Given the description of an element on the screen output the (x, y) to click on. 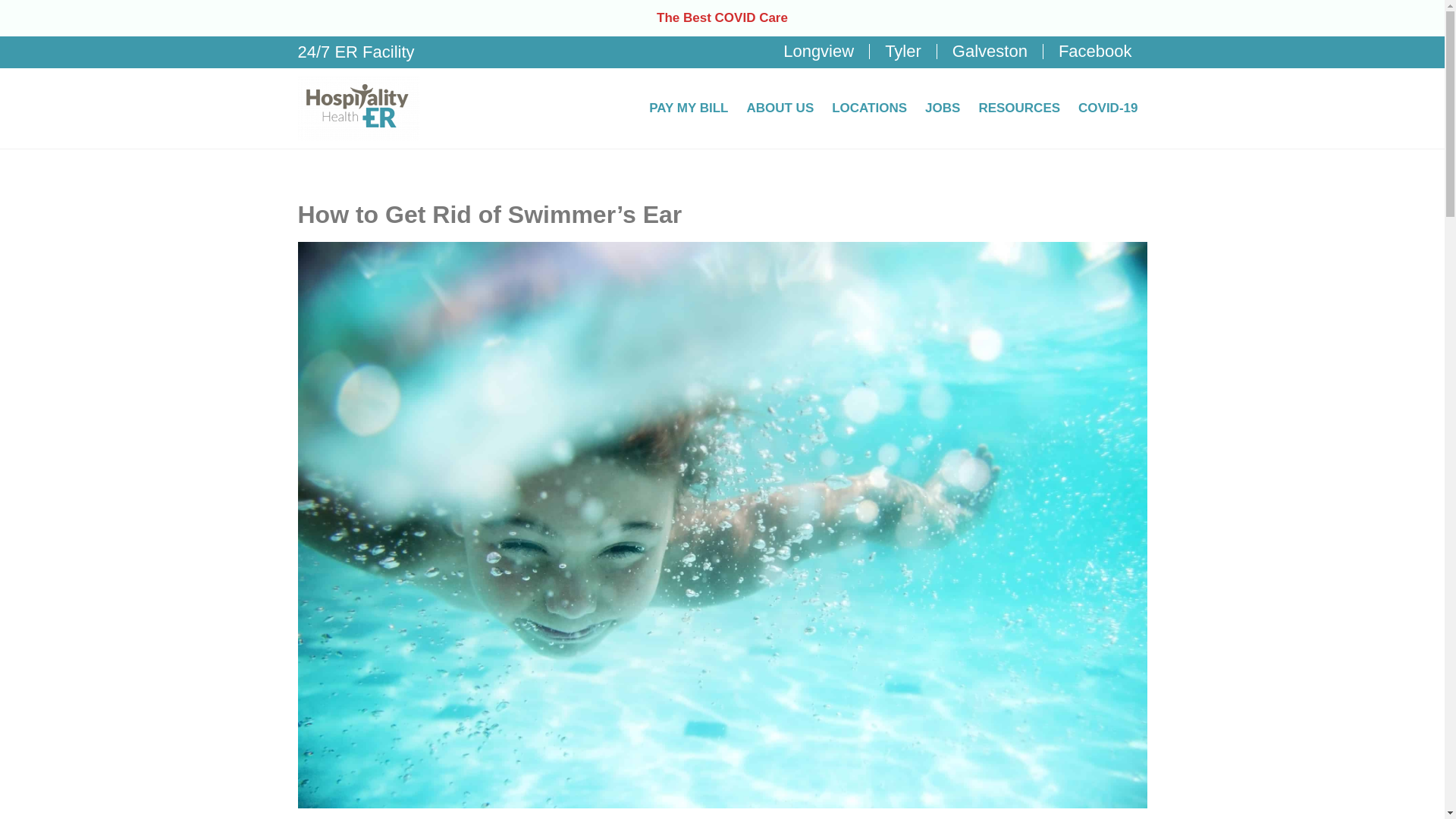
The Best COVID Care (721, 17)
Longview (818, 51)
RESOURCES (1018, 108)
ABOUT US (779, 108)
COVID-19 (1107, 108)
PAY MY BILL (688, 108)
Logo Edited Green (358, 108)
Facebook (1095, 51)
JOBS (942, 108)
Tyler (902, 51)
Galveston (989, 51)
LOCATIONS (868, 108)
